Given the description of an element on the screen output the (x, y) to click on. 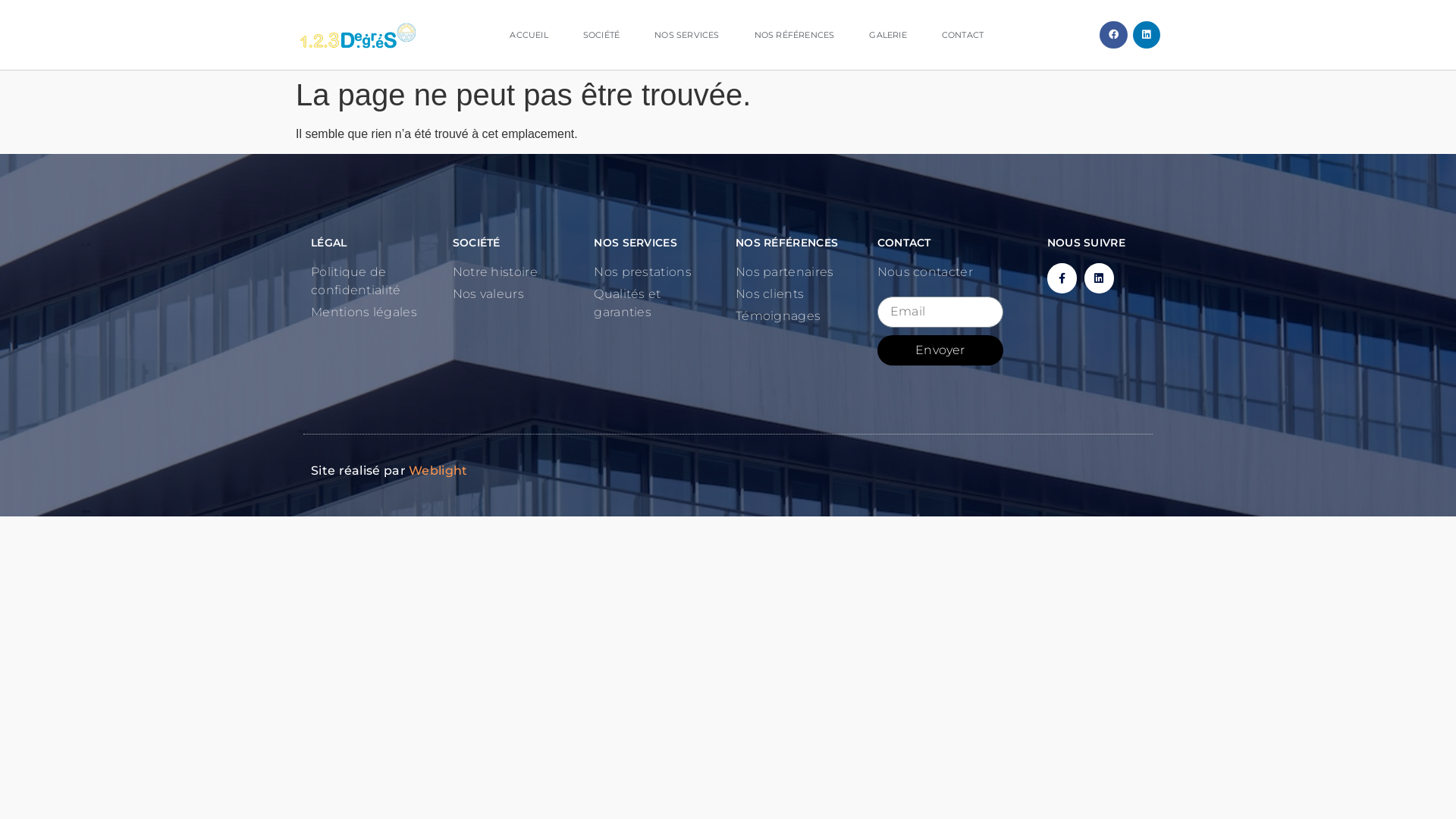
Nos prestations Element type: text (656, 272)
CONTACT Element type: text (962, 34)
GALERIE Element type: text (887, 34)
NOS SERVICES Element type: text (686, 34)
Nos clients Element type: text (798, 294)
Nos partenaires Element type: text (798, 272)
Nous contacter Element type: text (940, 272)
ACCUEIL Element type: text (528, 34)
Weblight Element type: text (437, 470)
Envoyer Element type: text (940, 350)
Notre histoire Element type: text (515, 272)
Nos valeurs Element type: text (515, 294)
